Given the description of an element on the screen output the (x, y) to click on. 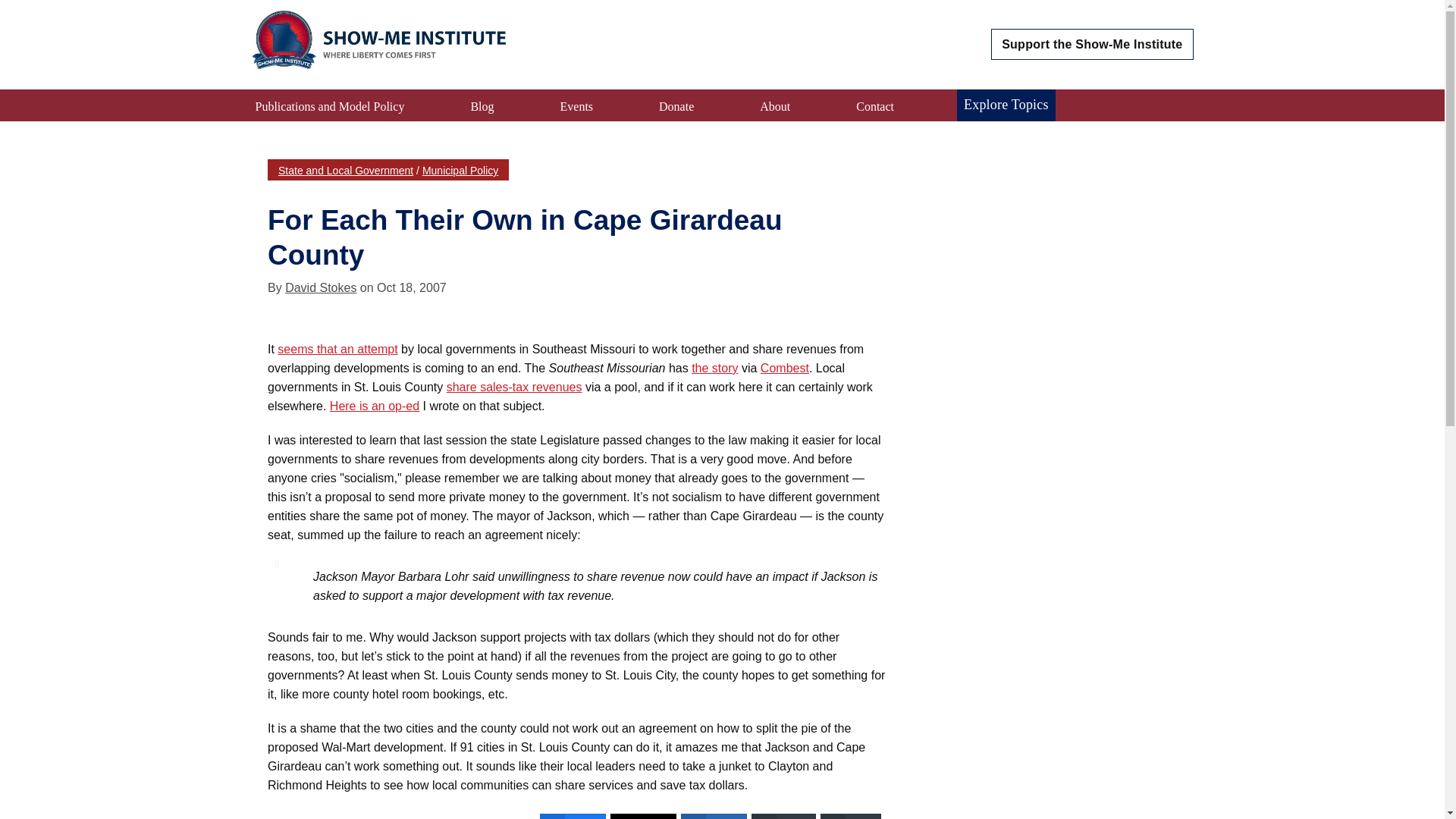
Posts by David Stokes (320, 287)
